Given the description of an element on the screen output the (x, y) to click on. 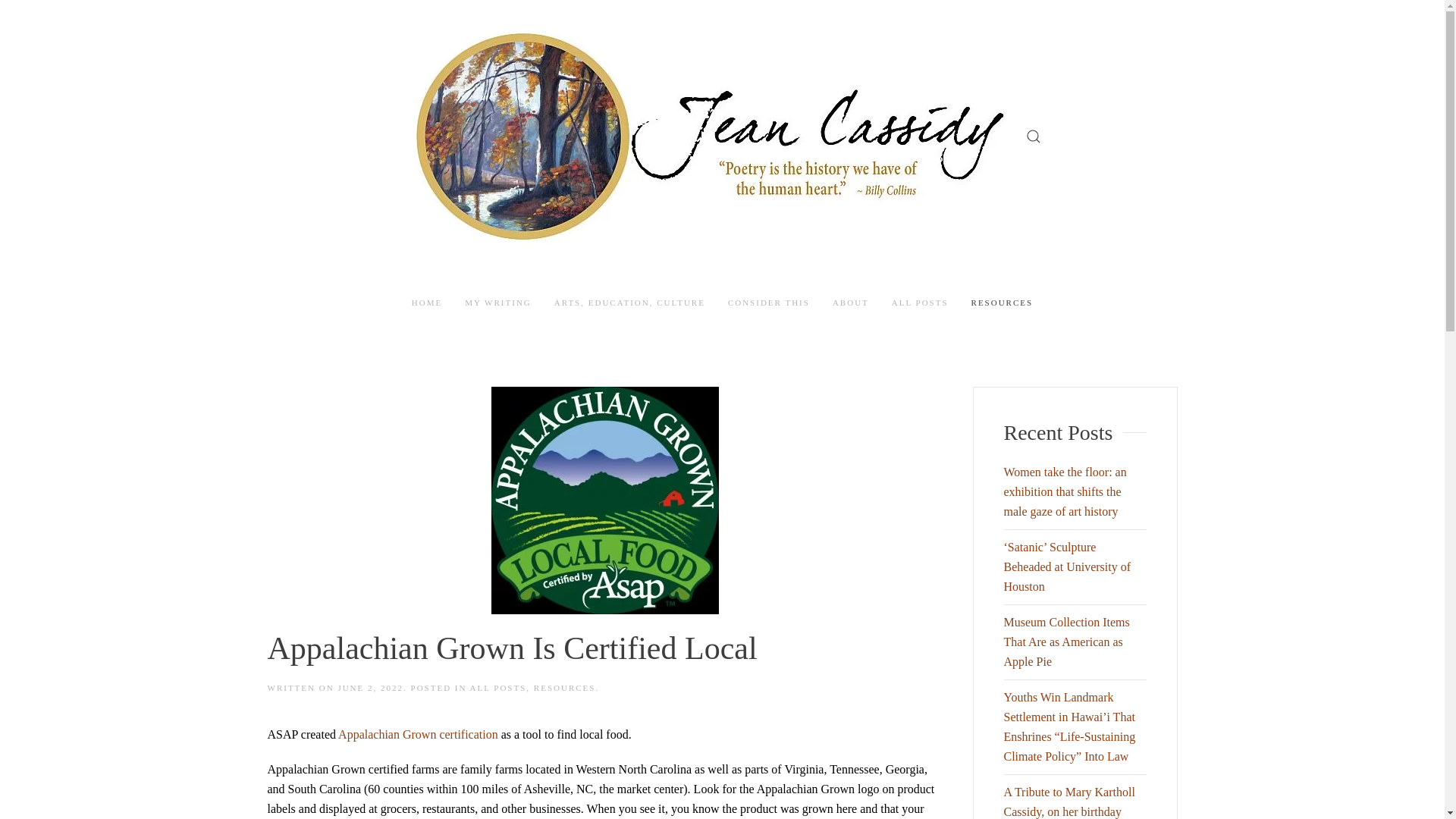
CONSIDER THIS (768, 302)
ALL POSTS (920, 302)
RESOURCES (564, 687)
Appalachian Grown certification (417, 734)
RESOURCES (1002, 302)
MY WRITING (497, 302)
ARTS, EDUCATION, CULTURE (629, 302)
ALL POSTS (498, 687)
